Given the description of an element on the screen output the (x, y) to click on. 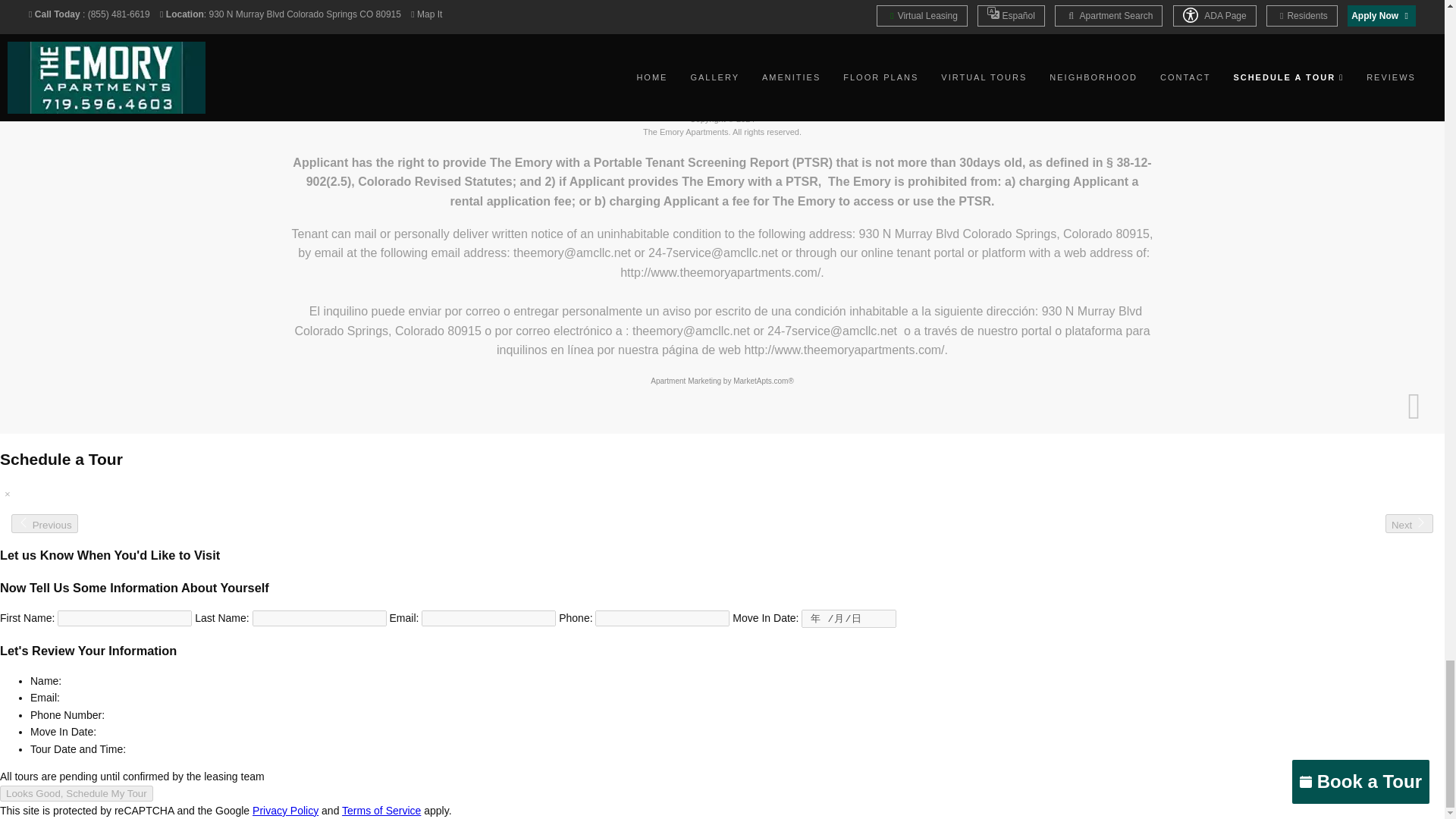
Equal Housing for The Emory Apartments (695, 1)
Disability Access for The Emory Apartments (749, 1)
Pet Friendly for The Emory Apartments (722, 1)
